Given the description of an element on the screen output the (x, y) to click on. 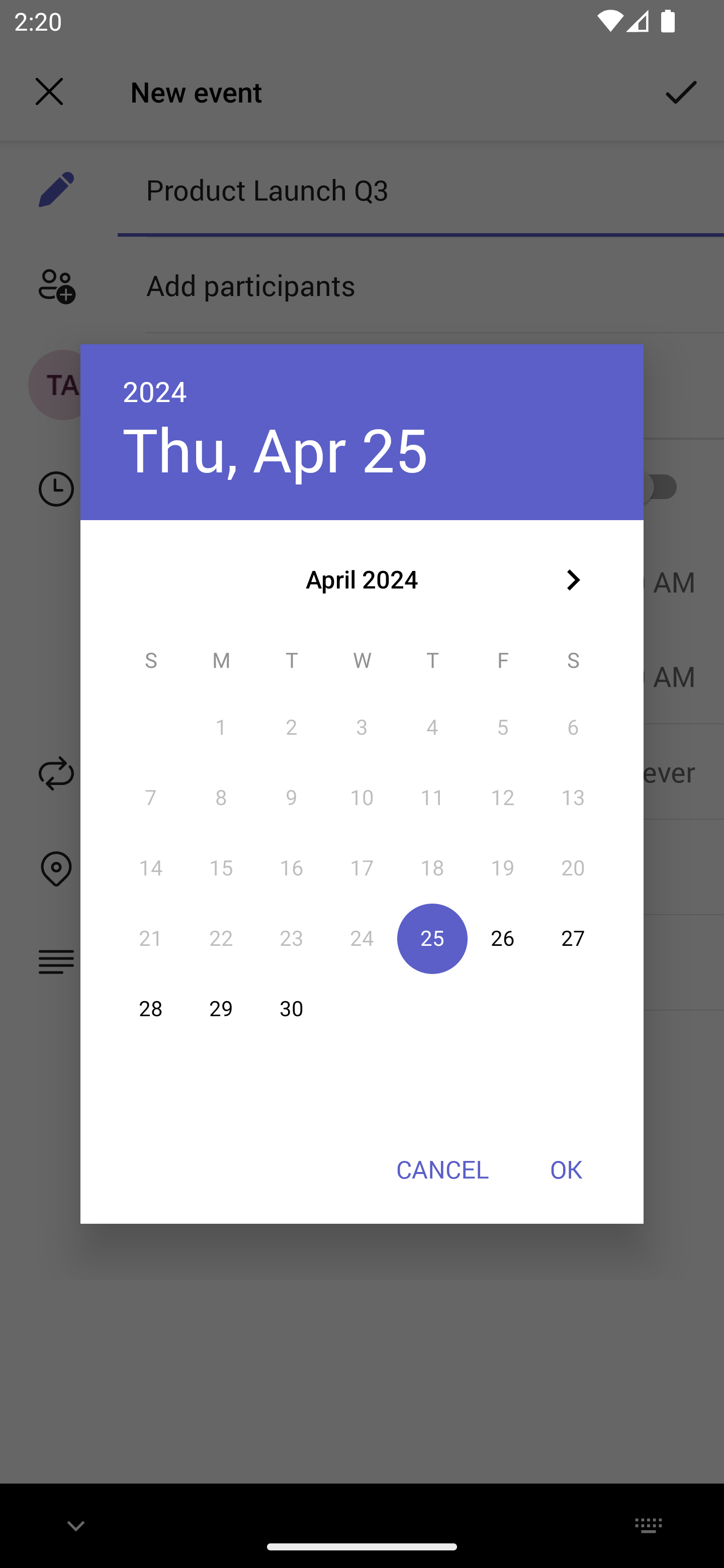
2024 (154, 391)
Thu, Apr 25 (275, 449)
Next month (572, 579)
1 01 April 2024 (221, 728)
2 02 April 2024 (291, 728)
3 03 April 2024 (361, 728)
4 04 April 2024 (432, 728)
5 05 April 2024 (502, 728)
6 06 April 2024 (572, 728)
7 07 April 2024 (150, 797)
8 08 April 2024 (221, 797)
9 09 April 2024 (291, 797)
10 10 April 2024 (361, 797)
11 11 April 2024 (432, 797)
12 12 April 2024 (502, 797)
13 13 April 2024 (572, 797)
14 14 April 2024 (150, 867)
15 15 April 2024 (221, 867)
16 16 April 2024 (291, 867)
17 17 April 2024 (361, 867)
18 18 April 2024 (432, 867)
19 19 April 2024 (502, 867)
20 20 April 2024 (572, 867)
21 21 April 2024 (150, 938)
22 22 April 2024 (221, 938)
23 23 April 2024 (291, 938)
24 24 April 2024 (361, 938)
25 25 April 2024 (432, 938)
26 26 April 2024 (502, 938)
27 27 April 2024 (572, 938)
28 28 April 2024 (150, 1008)
29 29 April 2024 (221, 1008)
30 30 April 2024 (291, 1008)
CANCEL (442, 1168)
OK (565, 1168)
